Given the description of an element on the screen output the (x, y) to click on. 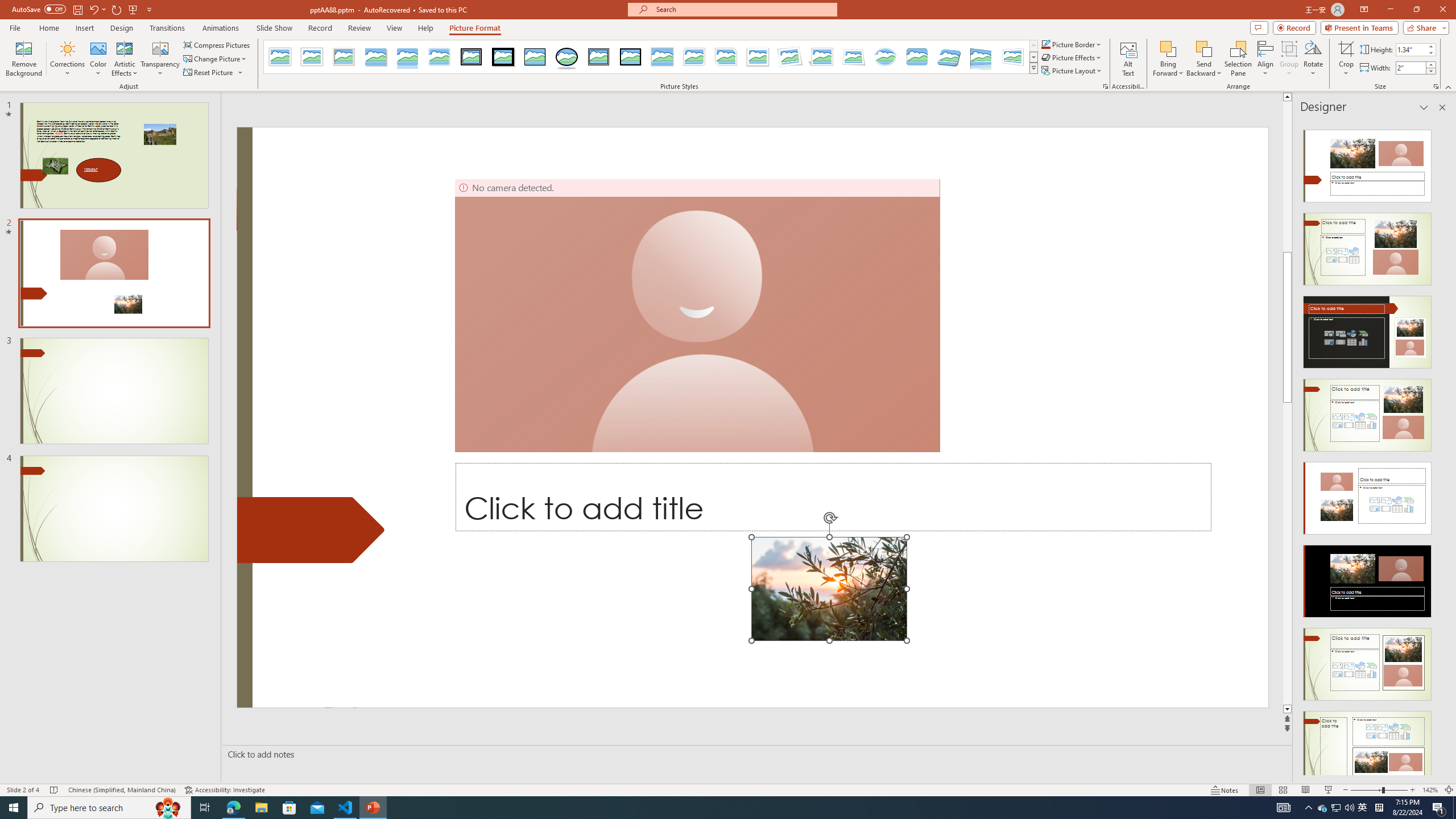
Align (1264, 58)
Alt Text (1128, 58)
Soft Edge Rectangle (439, 56)
Zoom 142% (1430, 790)
Remove Background (23, 58)
Simple Frame, Black (535, 56)
Rotated, White (790, 56)
Corrections (67, 58)
Picture Format (475, 28)
